Given the description of an element on the screen output the (x, y) to click on. 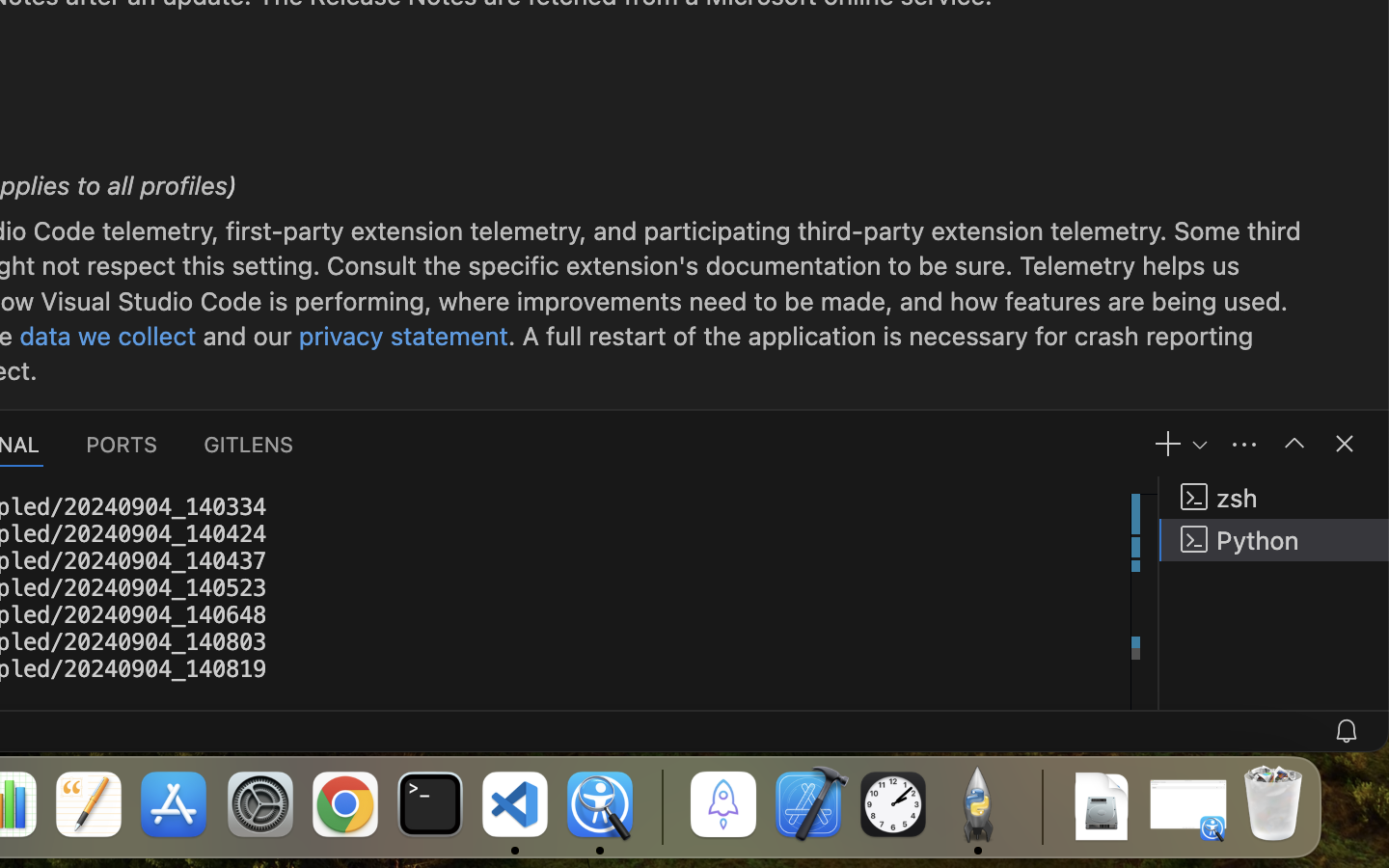
0 GITLENS Element type: AXRadioButton (249, 443)
and our Element type: AXStaticText (247, 335)
data we collect Element type: AXStaticText (107, 335)
 Element type: AXButton (1344, 443)
